Given the description of an element on the screen output the (x, y) to click on. 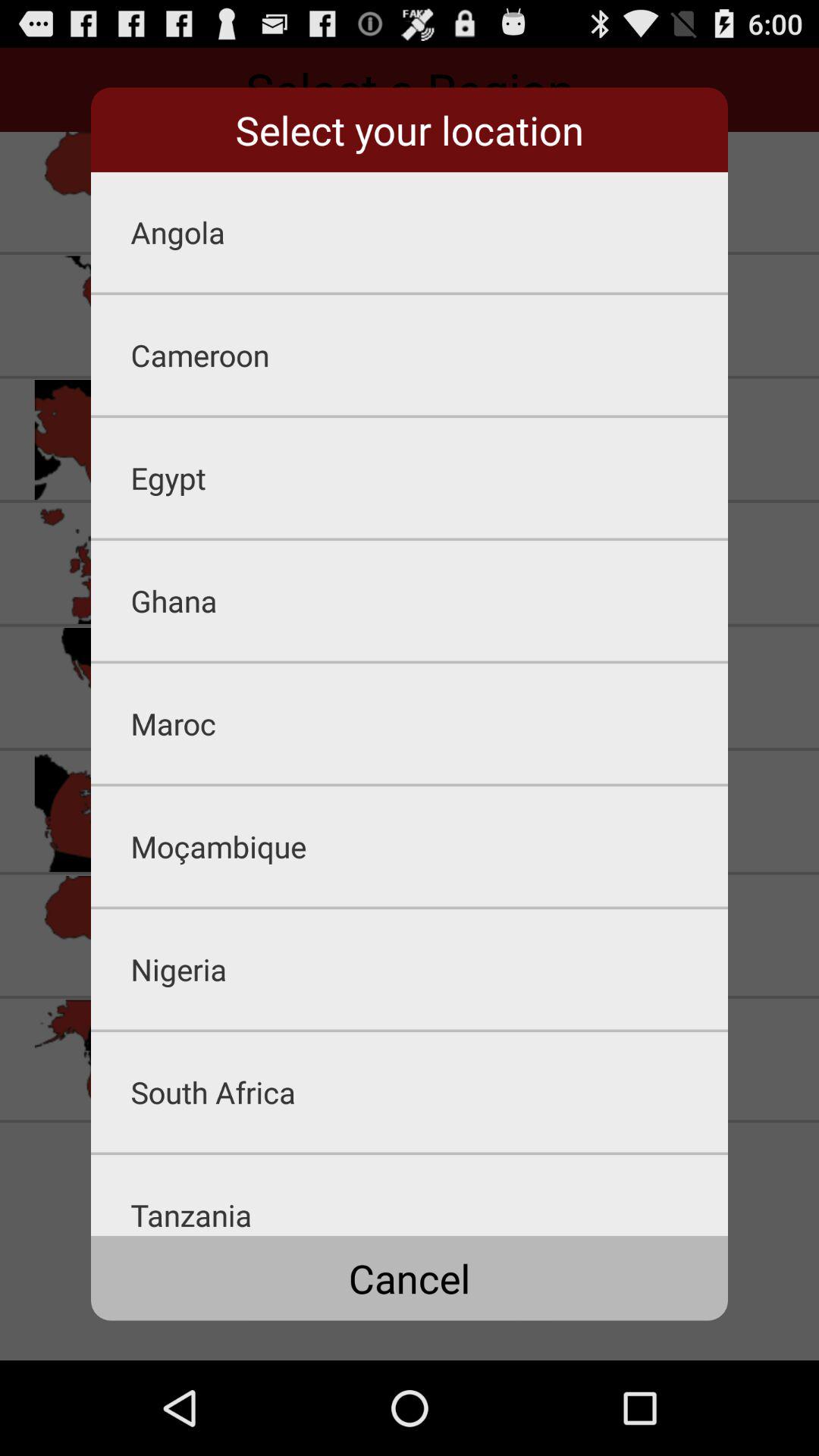
jump to the cameroon item (429, 355)
